Given the description of an element on the screen output the (x, y) to click on. 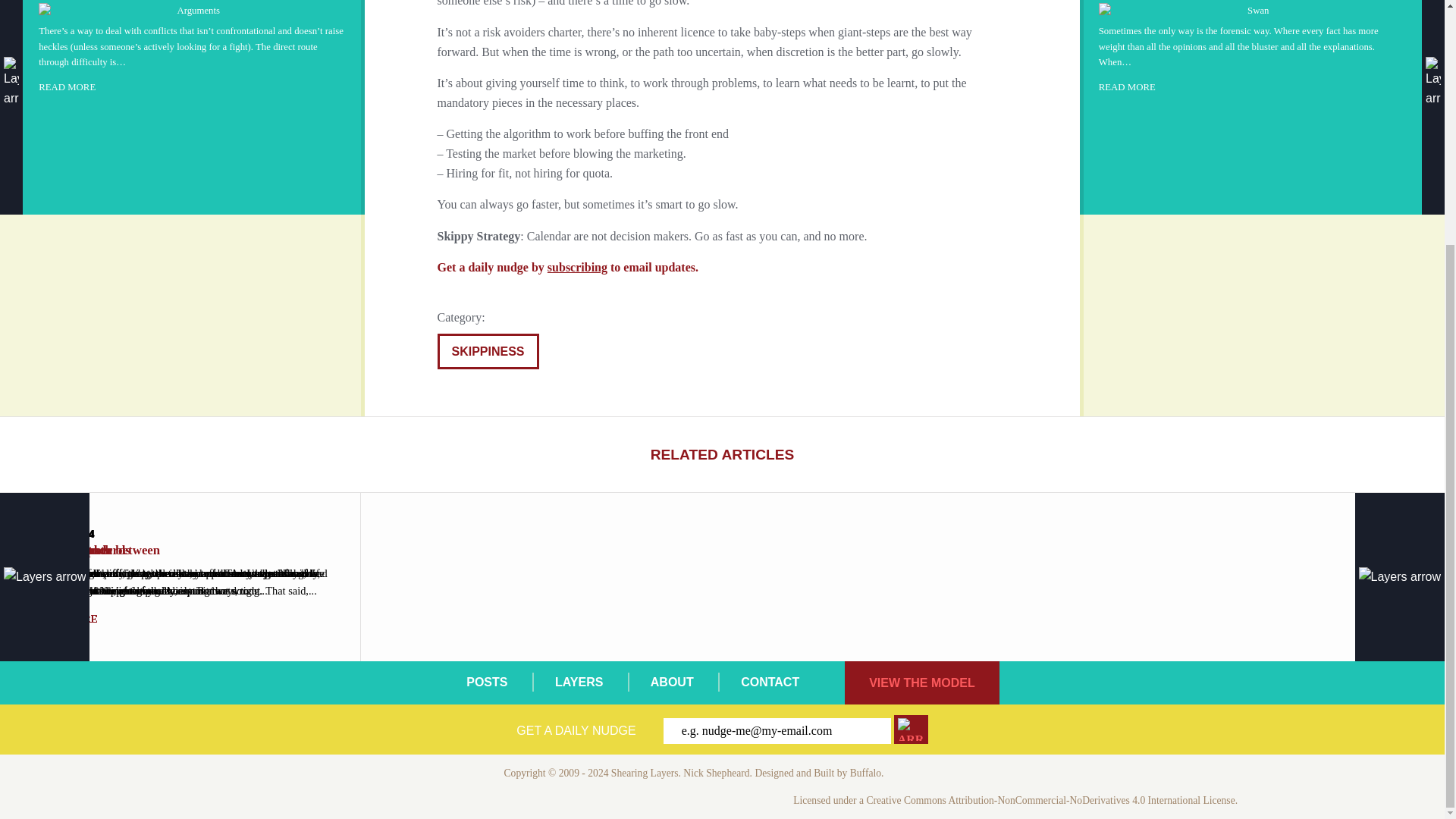
Their team (180, 576)
LAYERS (578, 681)
Subscribe to list (910, 728)
POSTS (485, 681)
Unpick it (1252, 46)
Winning arguments (192, 46)
VIEW THE MODEL (921, 682)
ABOUT (672, 681)
subscribing (577, 267)
CONTACT (770, 681)
SKIPPINESS (487, 351)
